Given the description of an element on the screen output the (x, y) to click on. 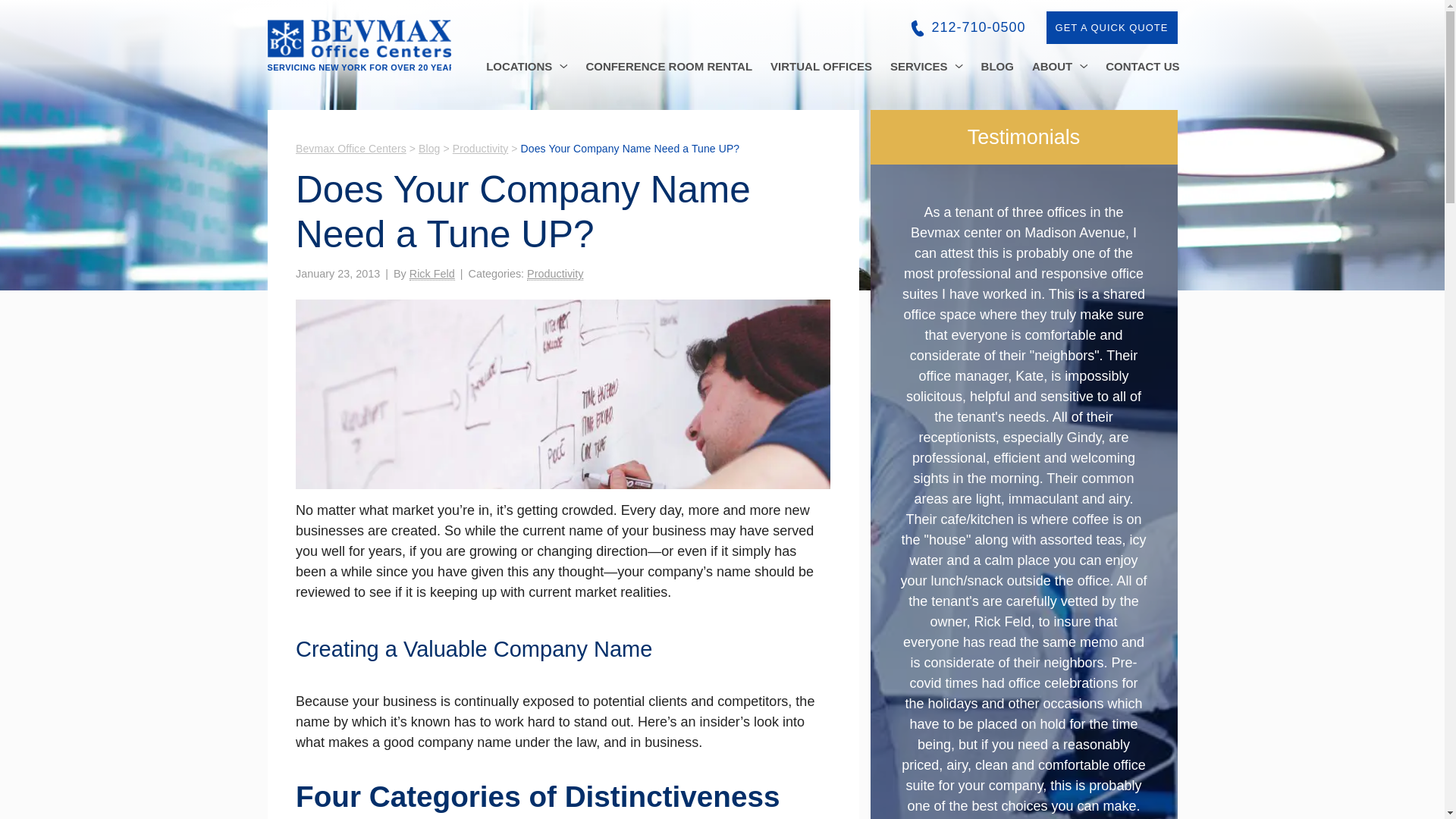
Go to Bevmax Office Centers. (350, 148)
CONFERENCE ROOM RENTAL (668, 65)
SERVICING NEW YORK FOR OVER 20 YEARS (357, 46)
CONTACT US (1142, 65)
Bevmax Office Centers (357, 46)
GET A QUICK QUOTE (1111, 27)
LOCATIONS (526, 65)
Bevmax Office Centers (350, 148)
BLOG (997, 65)
ABOUT (1059, 65)
Rick Feld (431, 273)
Go to Blog. (429, 148)
Blog (429, 148)
Productivity (555, 273)
SERVICES (926, 65)
